Given the description of an element on the screen output the (x, y) to click on. 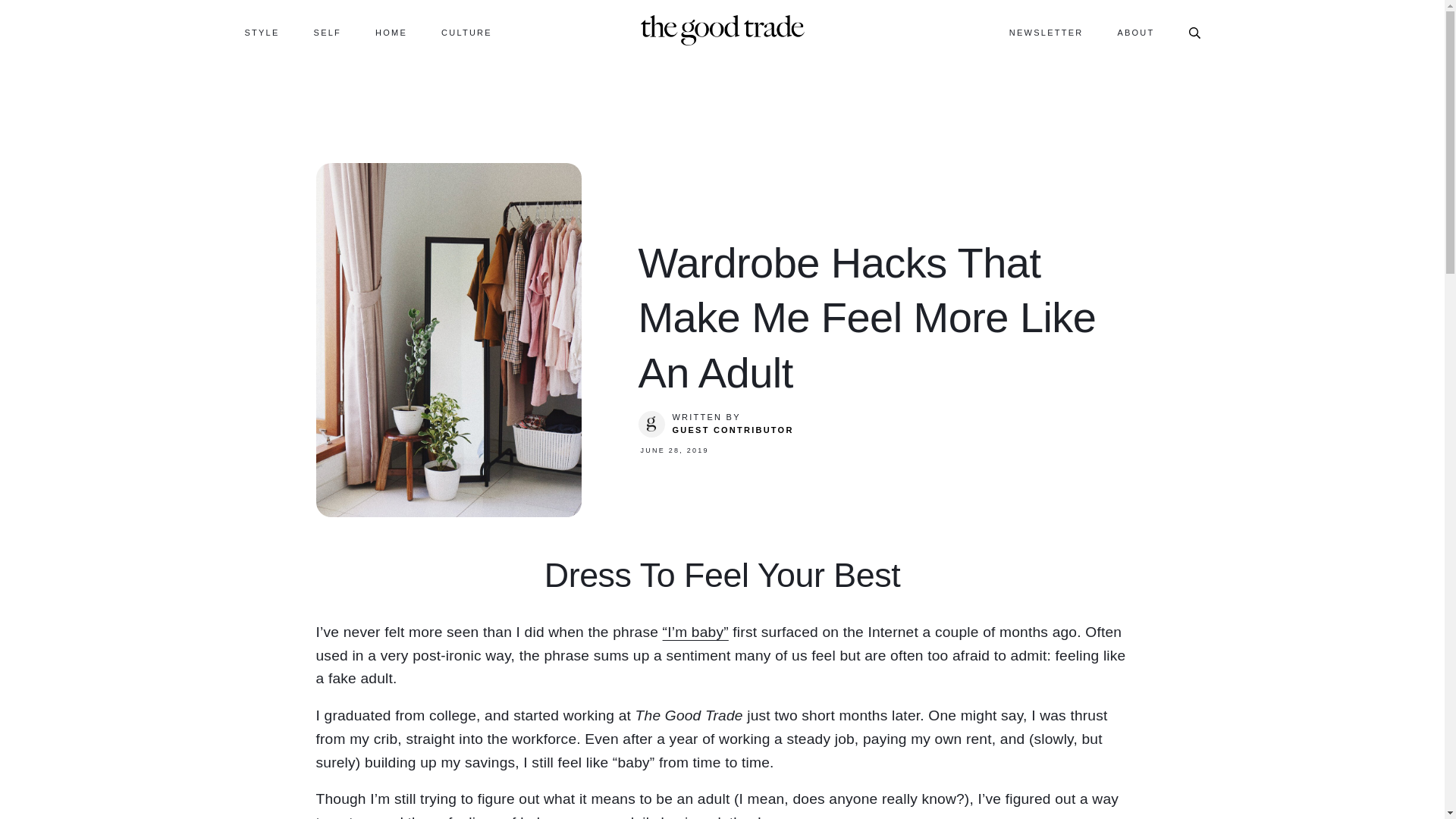
SELF (327, 31)
STYLE (261, 31)
HOME (391, 31)
Homepage (721, 28)
